Given the description of an element on the screen output the (x, y) to click on. 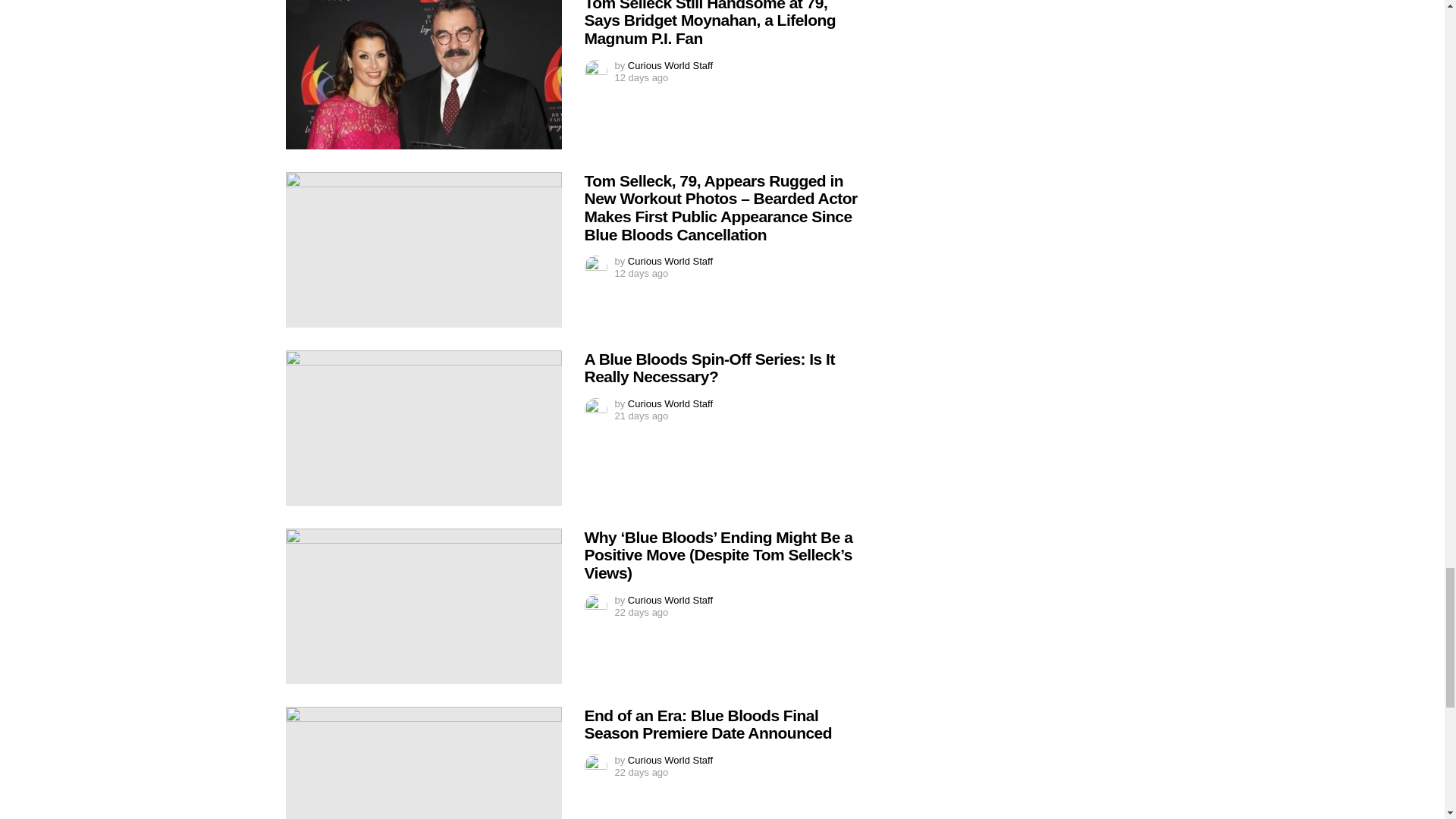
August 4, 2024, 7:33 pm (641, 78)
Posts by Curious World Staff (670, 65)
